Given the description of an element on the screen output the (x, y) to click on. 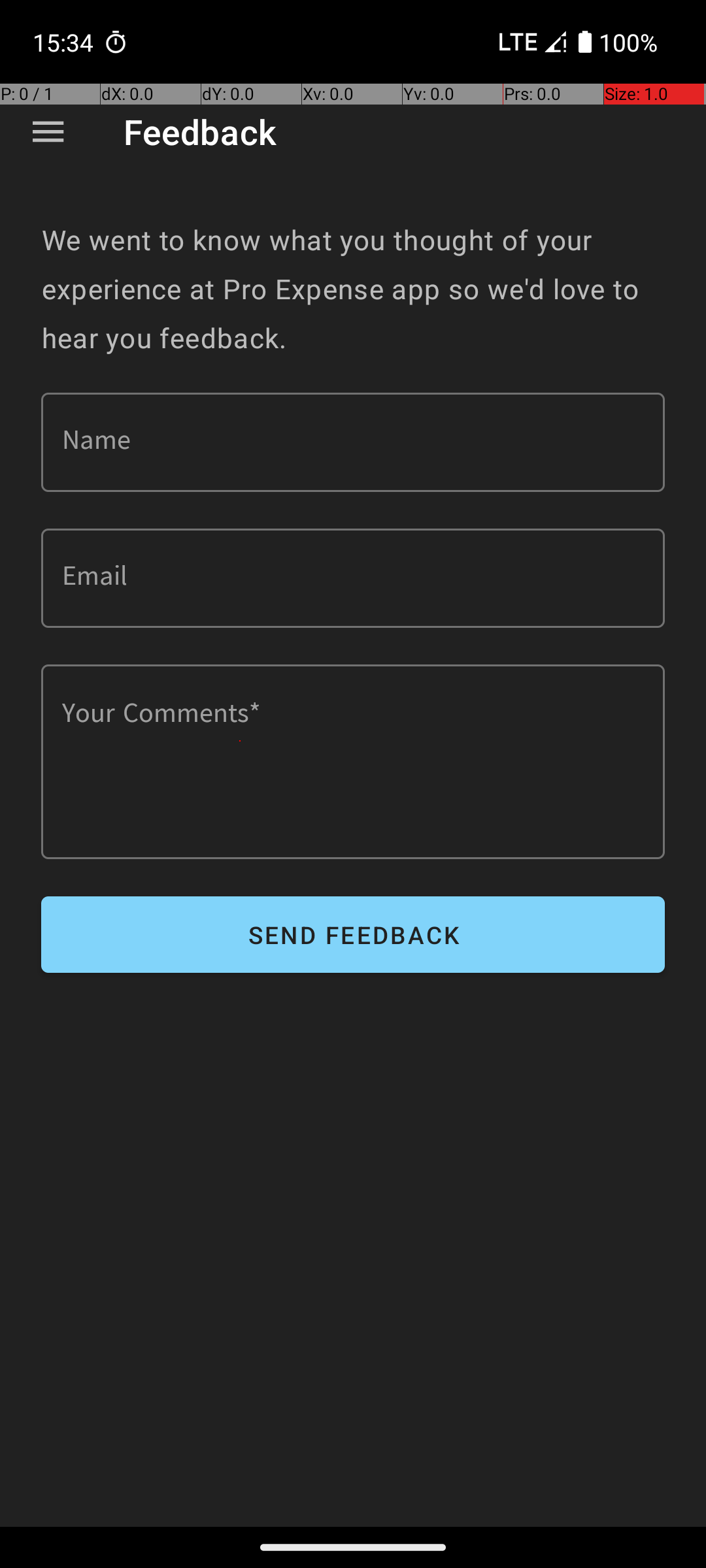
We went to know what you thought of your experience at Pro Expense app so we'd love to hear you feedback. Element type: android.widget.TextView (352, 288)
Your Comments* Element type: android.widget.EditText (352, 761)
SEND FEEDBACK Element type: android.widget.Button (352, 934)
